Given the description of an element on the screen output the (x, y) to click on. 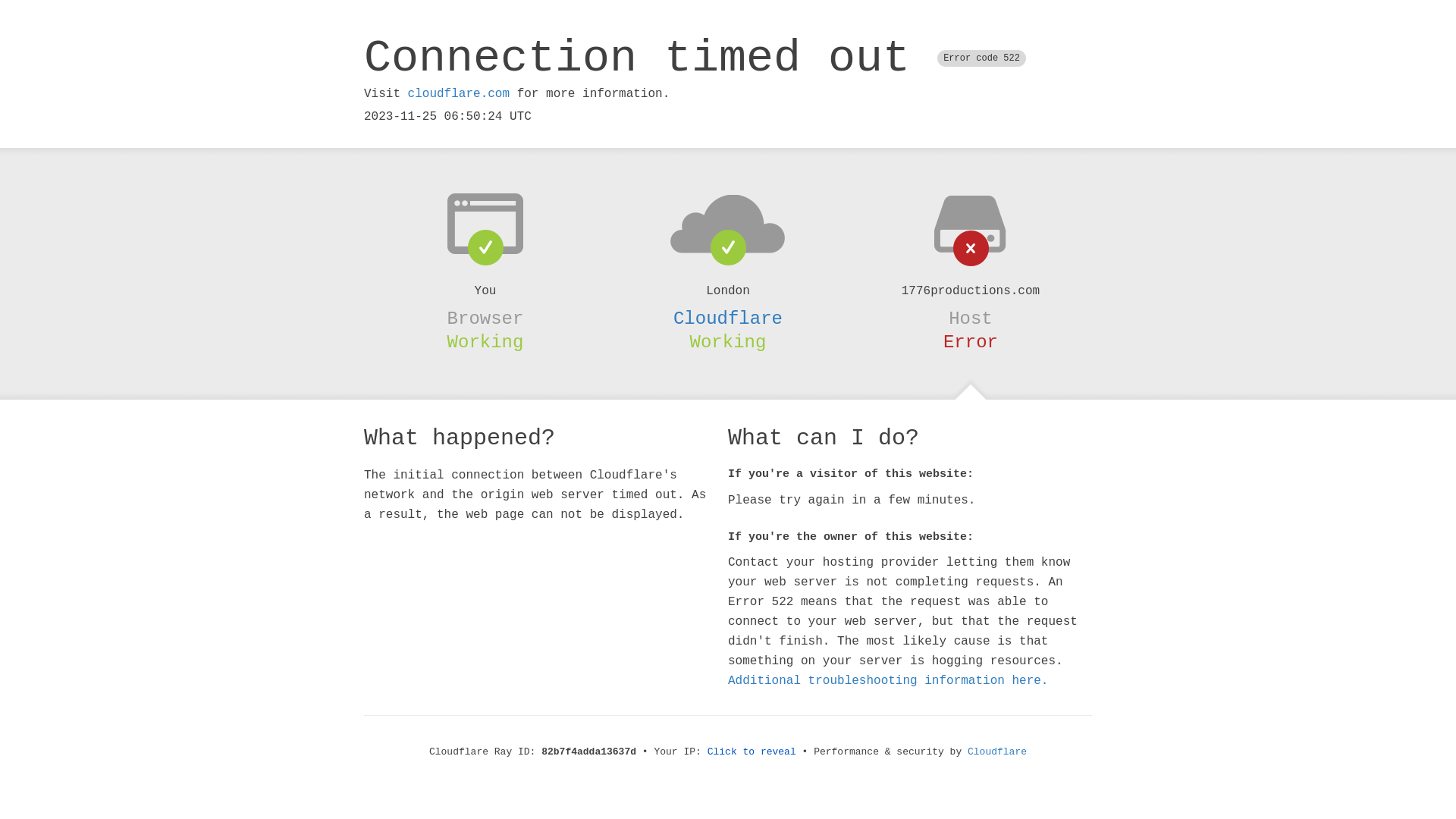
Click to reveal Element type: text (751, 751)
cloudflare.com Element type: text (458, 93)
Cloudflare Element type: text (727, 318)
Cloudflare Element type: text (996, 751)
Additional troubleshooting information here. Element type: text (888, 680)
